Given the description of an element on the screen output the (x, y) to click on. 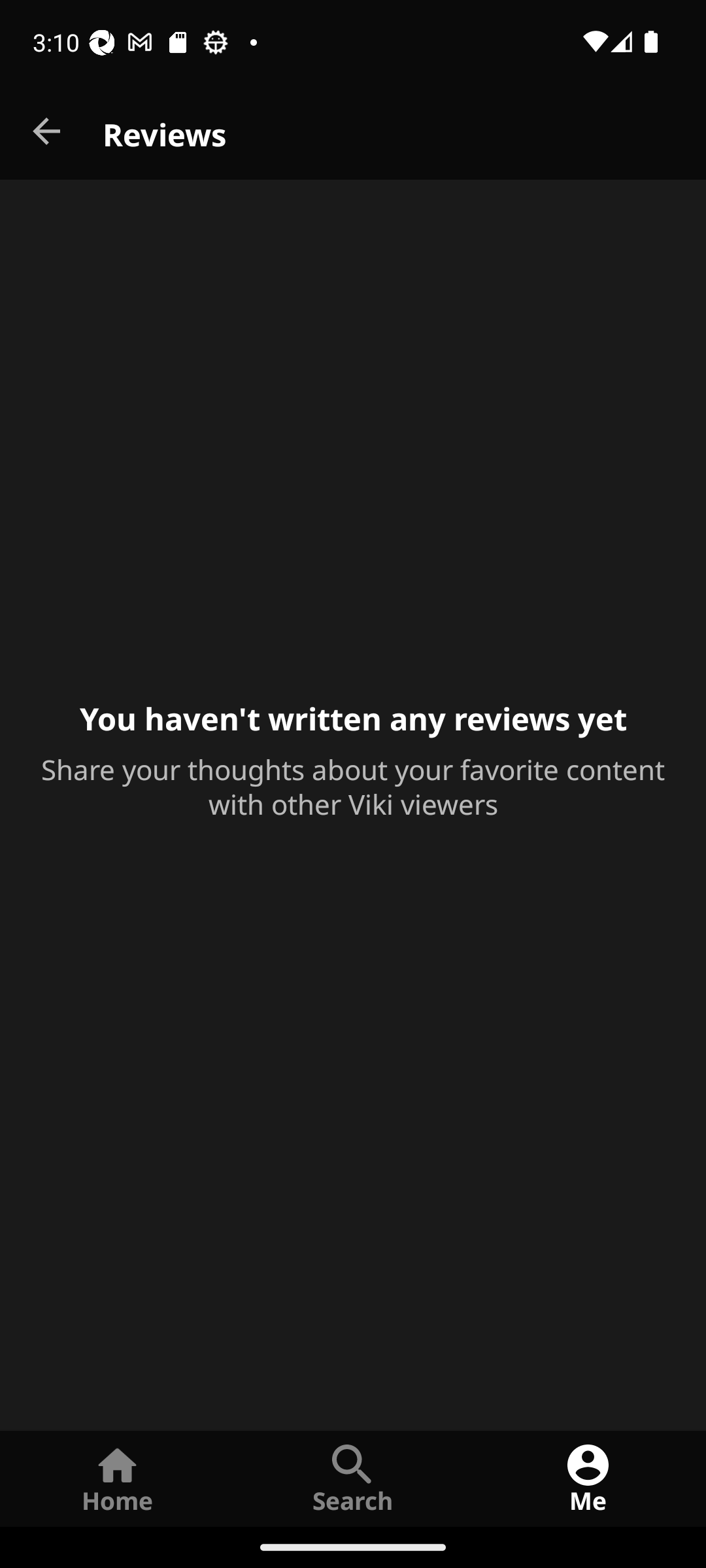
Navigate up (48, 131)
Home (117, 1478)
Search (352, 1478)
